Given the description of an element on the screen output the (x, y) to click on. 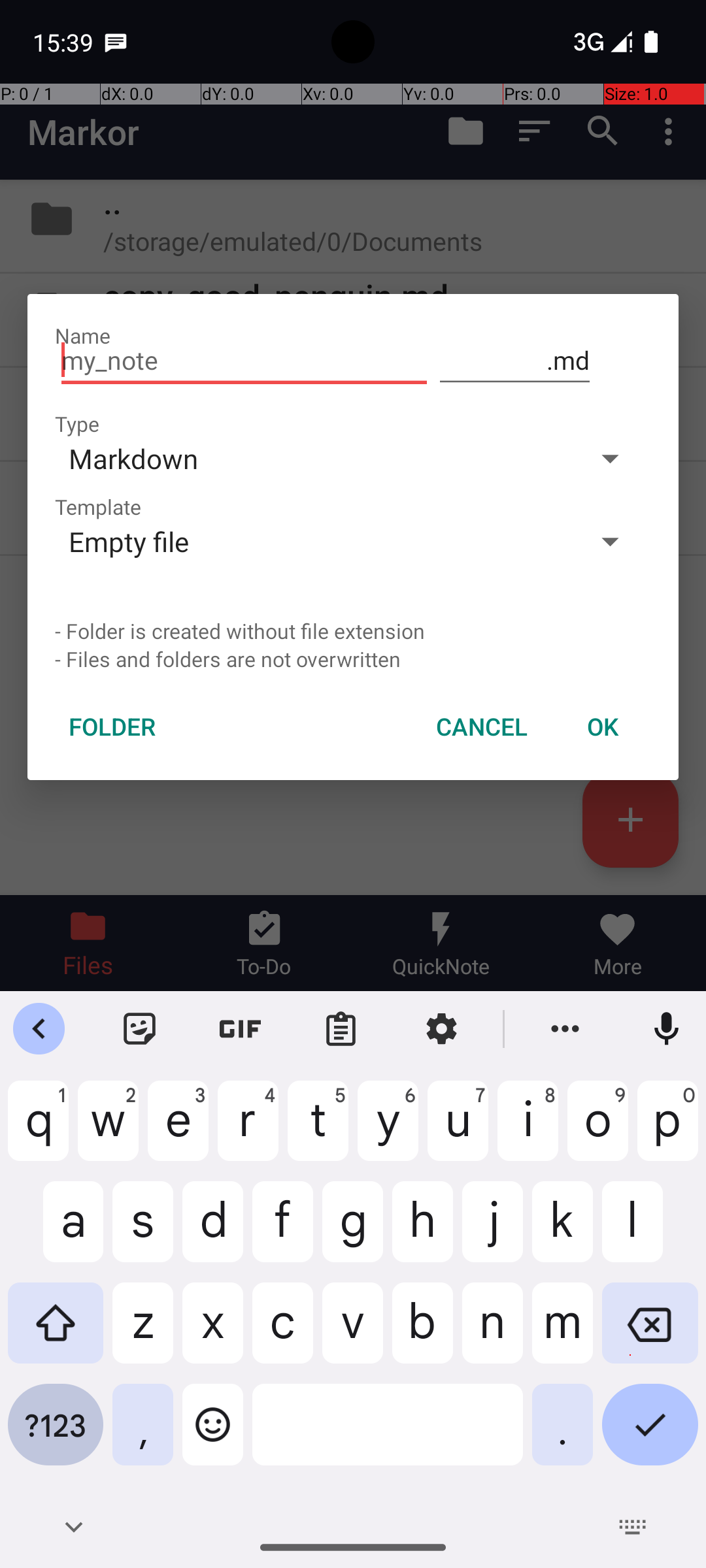
15:39 Element type: android.widget.TextView (64, 41)
